Given the description of an element on the screen output the (x, y) to click on. 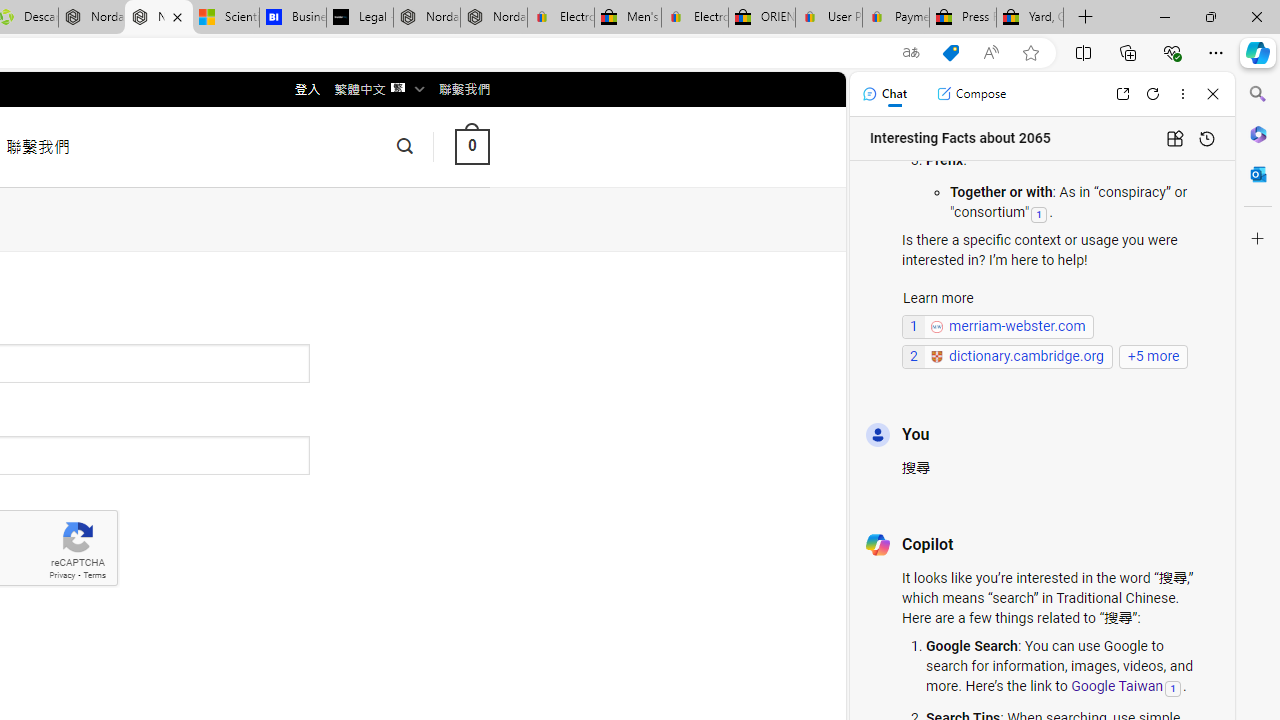
 0  (472, 146)
